Given the description of an element on the screen output the (x, y) to click on. 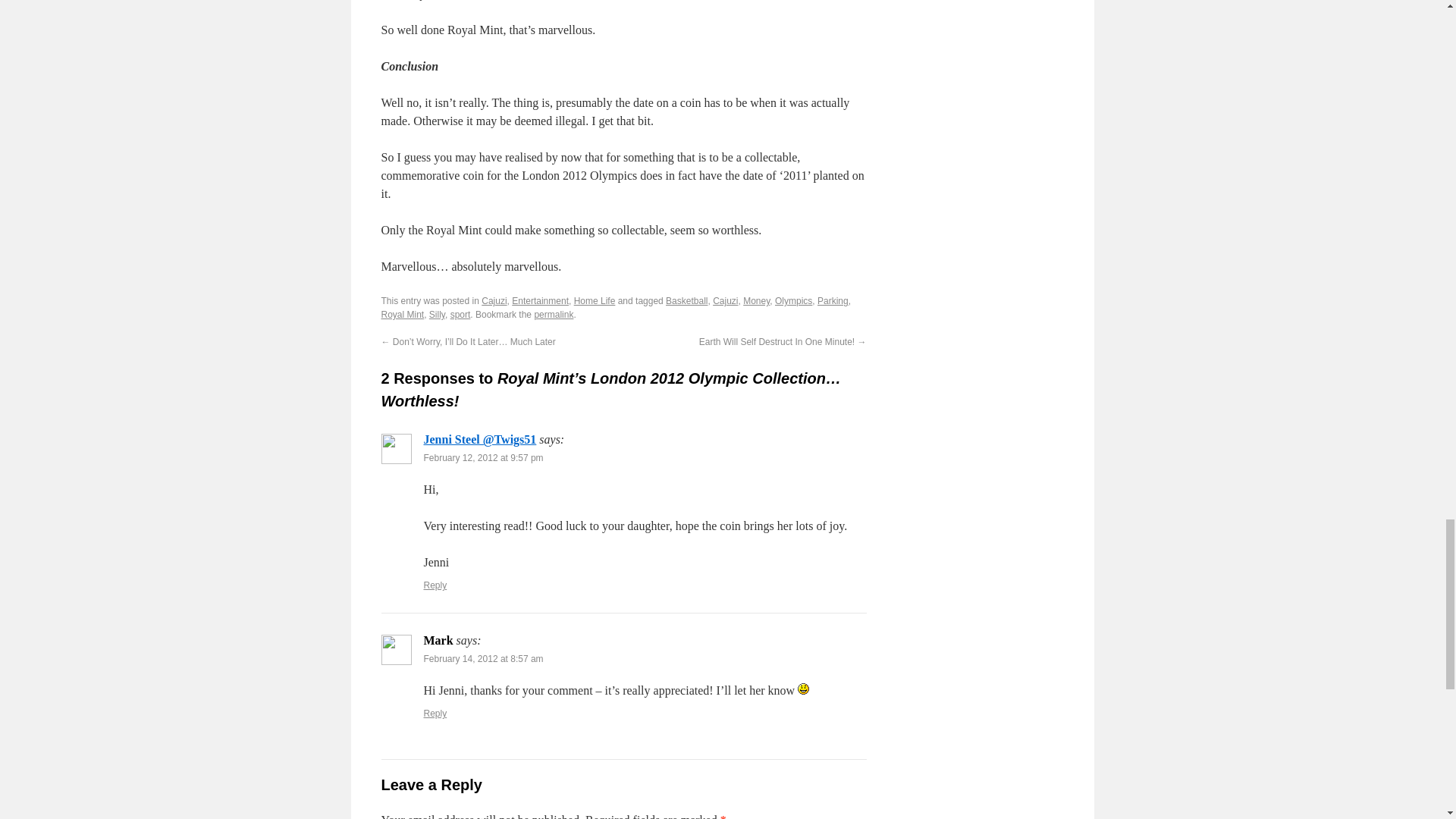
View all posts in Entertainment (540, 300)
February 14, 2012 at 8:57 am (483, 658)
Reply (434, 713)
Parking (832, 300)
Reply (434, 584)
Entertainment (540, 300)
Home Life (594, 300)
Silly (437, 314)
Money (756, 300)
permalink (553, 314)
